Given the description of an element on the screen output the (x, y) to click on. 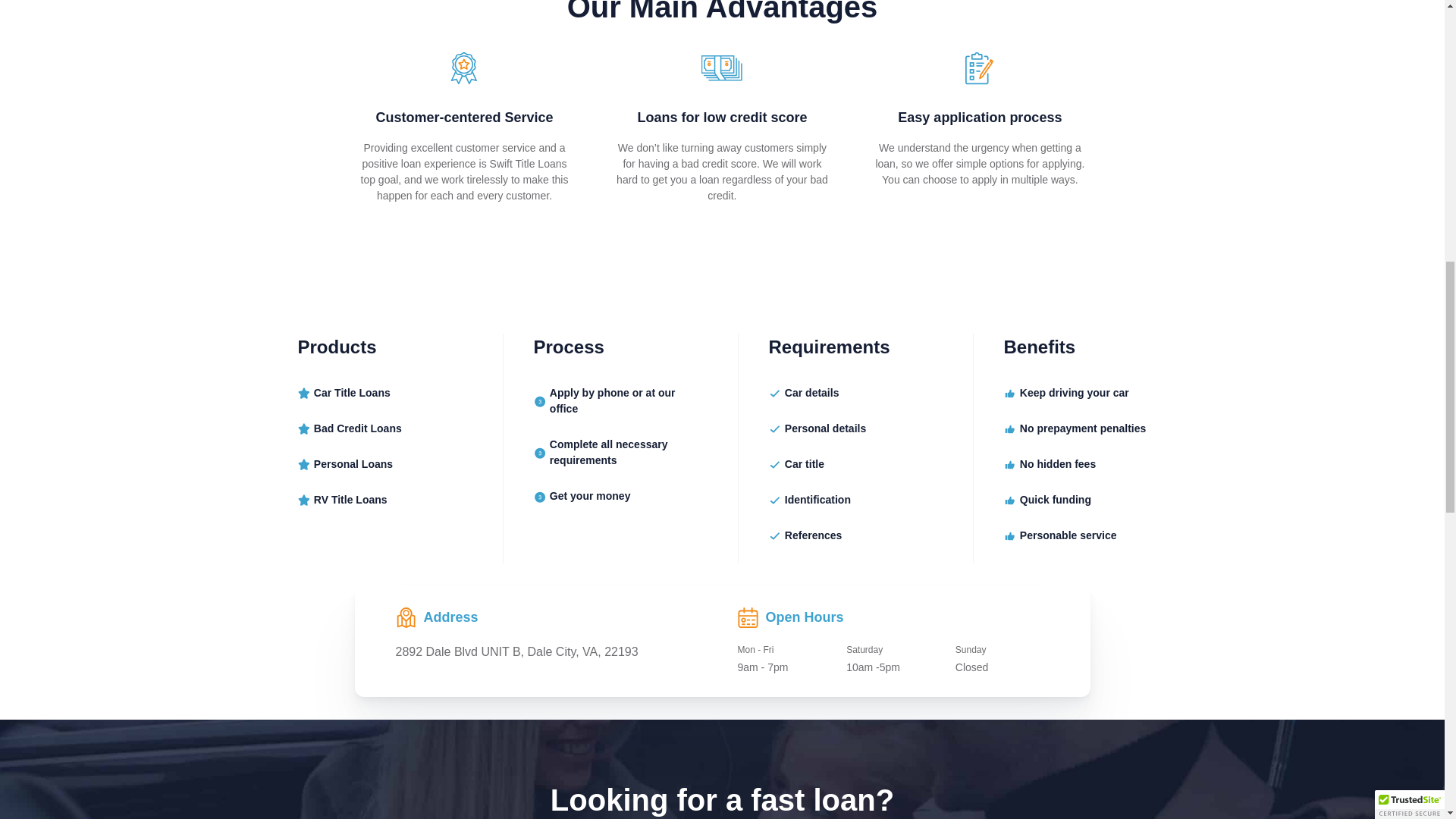
Scroll back to top (1406, 675)
